Given the description of an element on the screen output the (x, y) to click on. 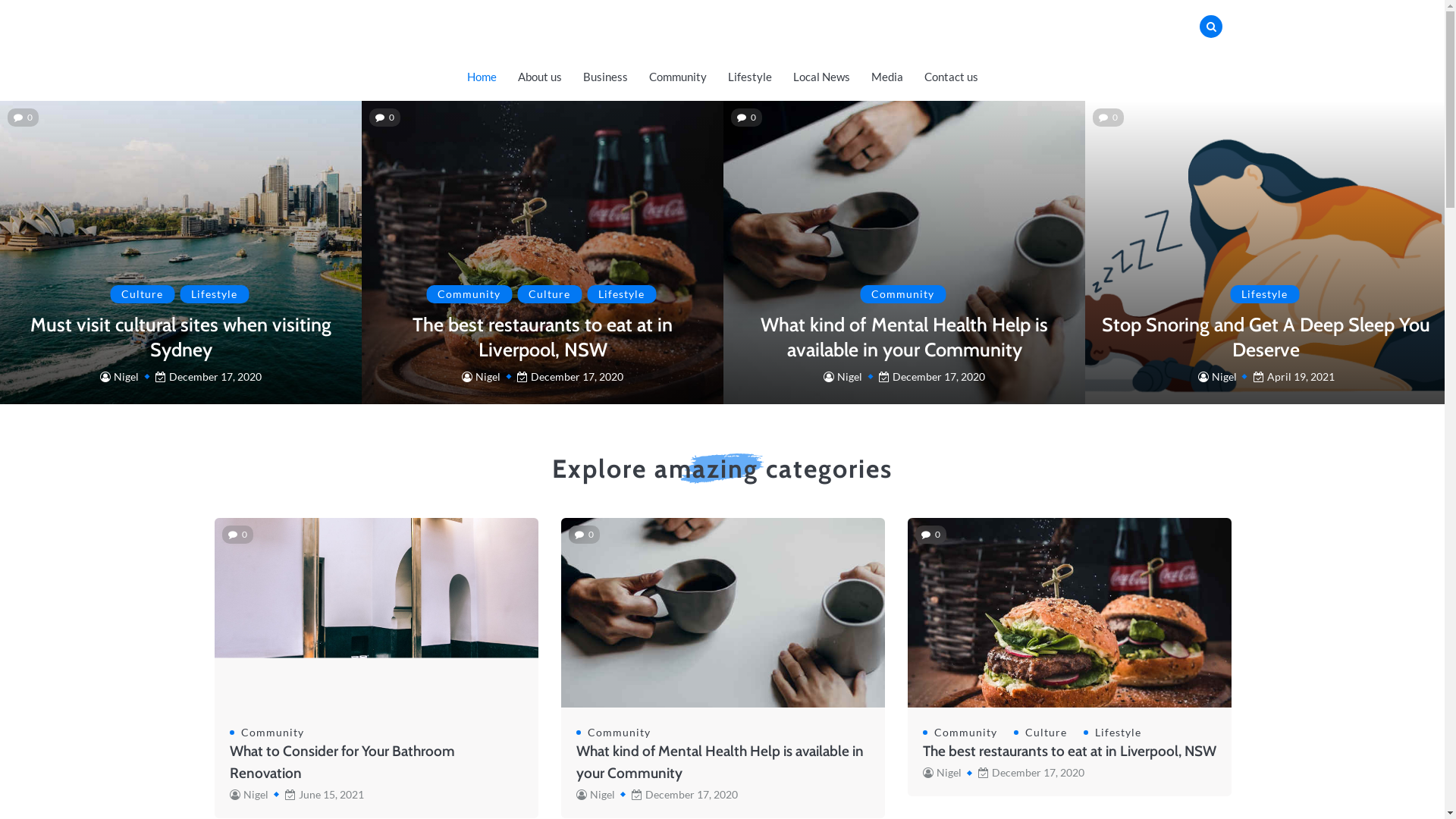
Community Element type: text (677, 76)
Nigel Element type: text (480, 376)
Stop Snoring and Get A Deep Sleep You Deserve Element type: text (1265, 336)
December 17, 2020 Element type: text (678, 793)
Lifestyle Element type: text (1264, 293)
Lifestyle Element type: text (213, 293)
Business Element type: text (604, 76)
Lifestyle Element type: text (749, 76)
Home Element type: text (481, 76)
About us Element type: text (538, 76)
December 17, 2020 Element type: text (202, 376)
The best restaurants to eat at in Liverpool, NSW Element type: text (542, 336)
Nigel Element type: text (941, 771)
Must visit cultural sites when visiting Sydney Element type: text (180, 336)
Local News Element type: text (821, 76)
0 Element type: text (583, 533)
0 Element type: text (384, 116)
Community Element type: text (619, 731)
Nigel Element type: text (119, 376)
Lifestyle Element type: text (620, 293)
Contact us Element type: text (950, 76)
Community Element type: text (964, 731)
What to Consider for Your Bathroom Renovation Element type: text (341, 761)
0 Element type: text (929, 533)
Community Element type: text (902, 293)
Culture Element type: text (549, 293)
0 Element type: text (746, 116)
Lifestyle Element type: text (1116, 731)
The best restaurants to eat at in Liverpool, NSW Element type: text (1068, 750)
0 Element type: text (22, 116)
Community Element type: text (468, 293)
Nigel Element type: text (1217, 376)
Culture Element type: text (141, 293)
0 Element type: text (1107, 116)
Search Element type: text (1187, 61)
Culture Element type: text (1045, 731)
Newleaf Communities Element type: text (880, 51)
Nigel Element type: text (248, 793)
December 17, 2020 Element type: text (564, 376)
Community Element type: text (271, 731)
Nigel Element type: text (842, 376)
April 19, 2021 Element type: text (1287, 376)
0 Element type: text (236, 533)
June 15, 2021 Element type: text (319, 793)
Media Element type: text (886, 76)
December 17, 2020 Element type: text (926, 376)
Nigel Element type: text (595, 793)
December 17, 2020 Element type: text (1025, 771)
